Given the description of an element on the screen output the (x, y) to click on. 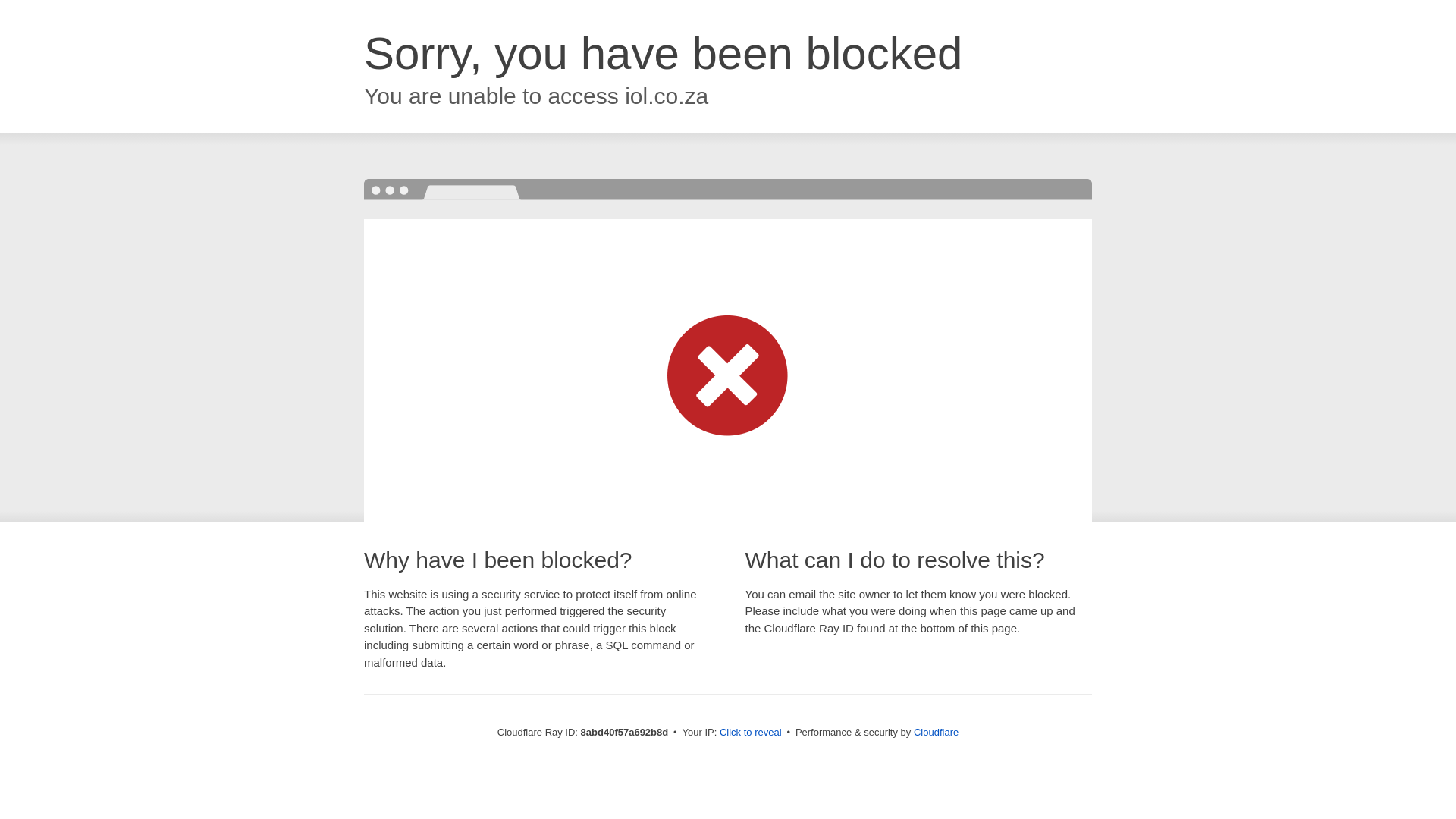
Cloudflare (936, 731)
Click to reveal (750, 732)
